Given the description of an element on the screen output the (x, y) to click on. 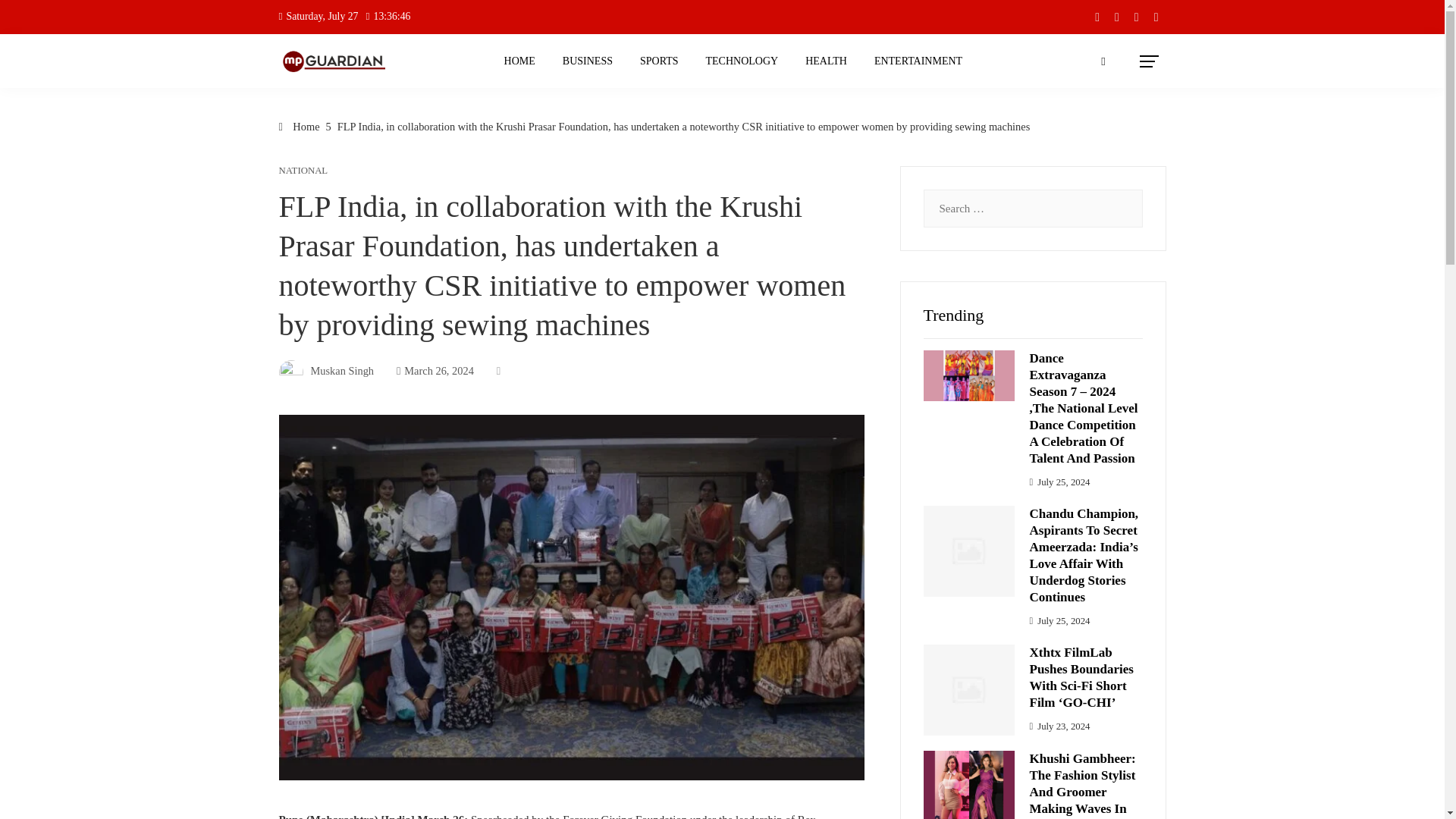
HOME (520, 60)
Home (299, 126)
NATIONAL (304, 171)
BUSINESS (587, 60)
SPORTS (659, 60)
ENTERTAINMENT (918, 60)
TECHNOLOGY (742, 60)
Search (34, 18)
HEALTH (826, 60)
